Given the description of an element on the screen output the (x, y) to click on. 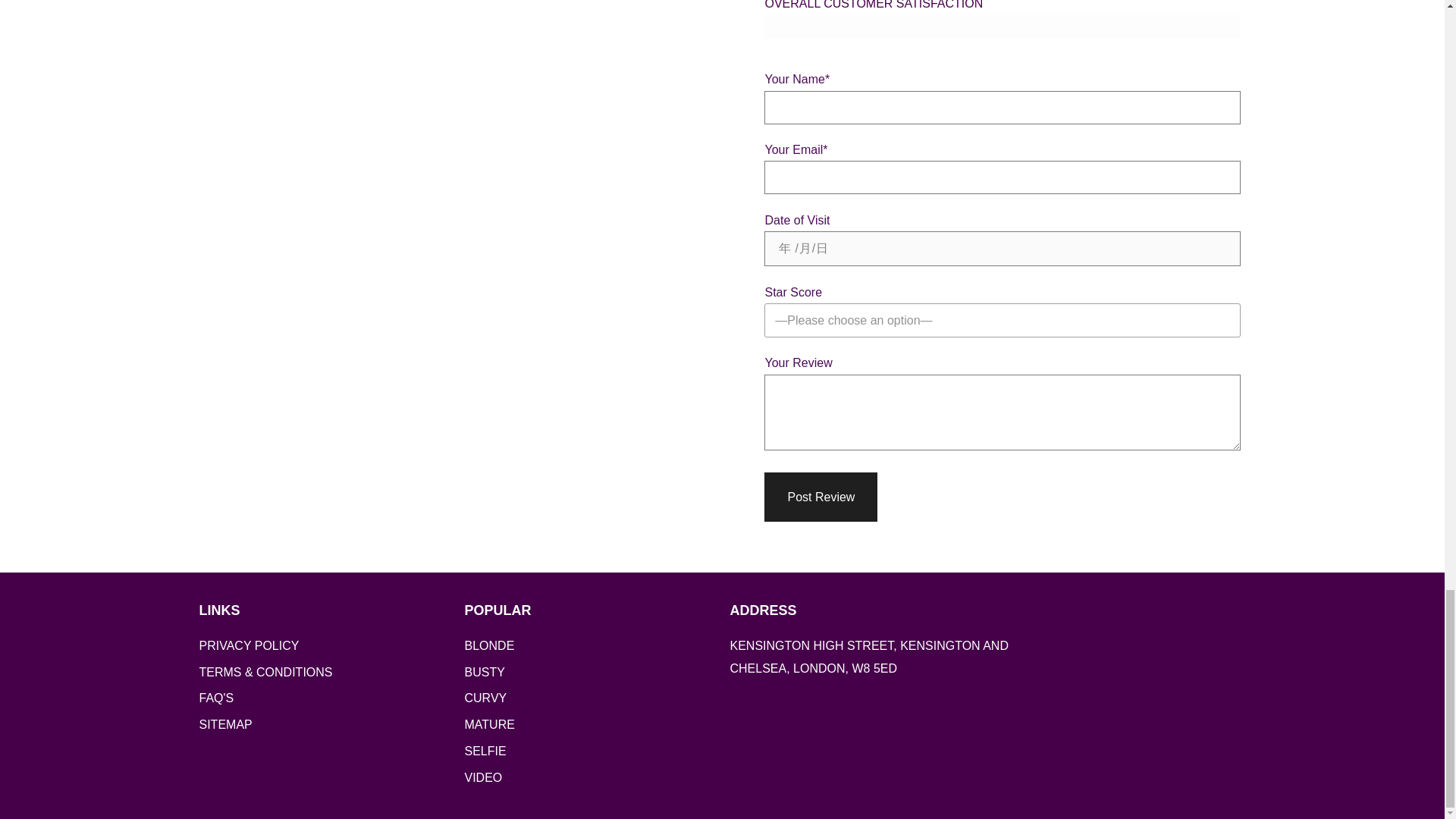
Post Review (820, 497)
